Given the description of an element on the screen output the (x, y) to click on. 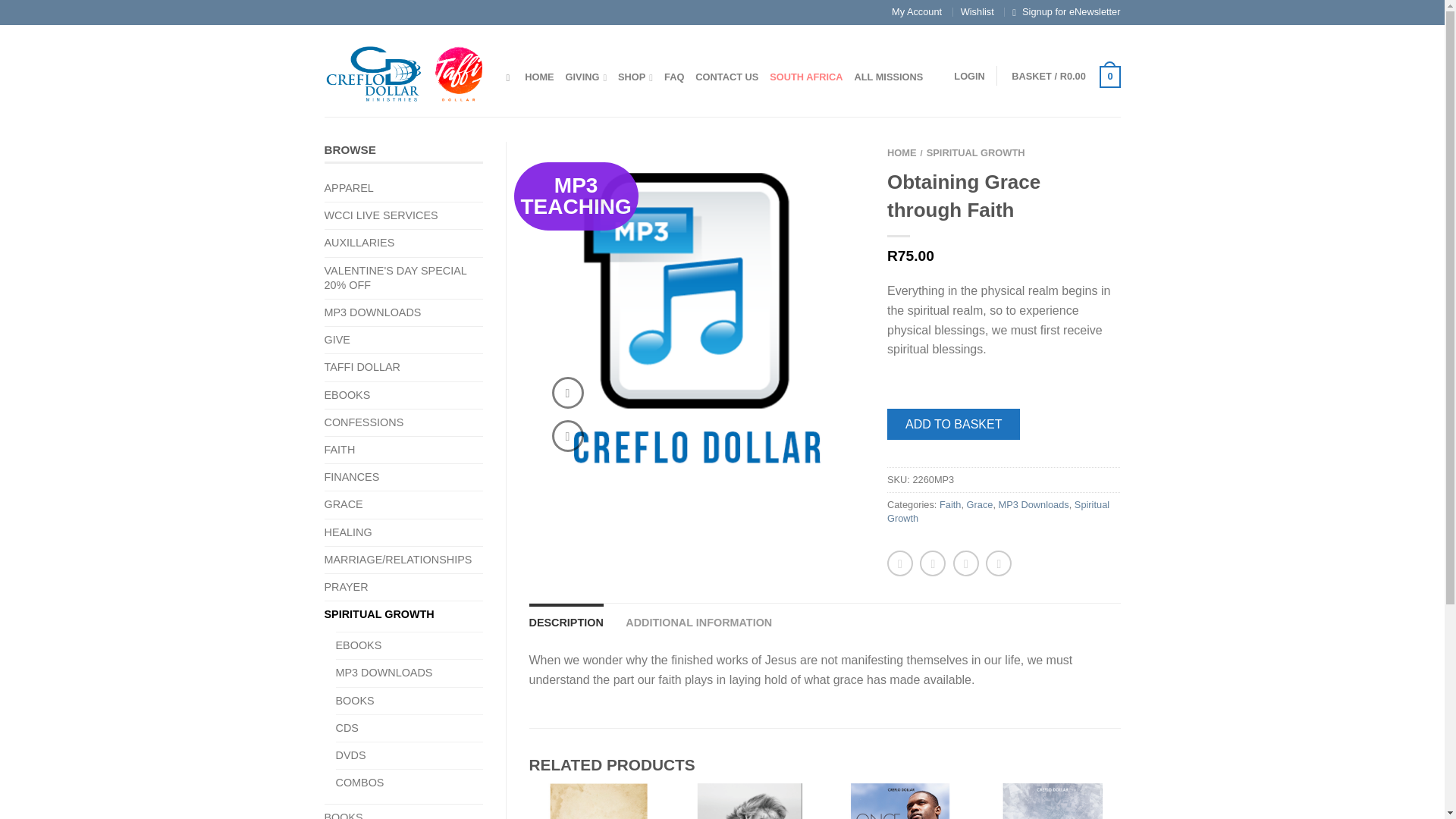
AUXILLARIES (365, 243)
MP3 DOWNLOADS (378, 312)
ALL MISSIONS (888, 76)
CONTACT US (726, 76)
GIVE (342, 339)
APPAREL (354, 188)
SHOP (634, 76)
HOME (538, 76)
GIVING (586, 76)
TAFFI DOLLAR (368, 366)
Wishlist (977, 11)
LOGIN (969, 76)
Signup for eNewsletter (1070, 11)
My Account (916, 11)
SOUTH AFRICA (806, 76)
